Given the description of an element on the screen output the (x, y) to click on. 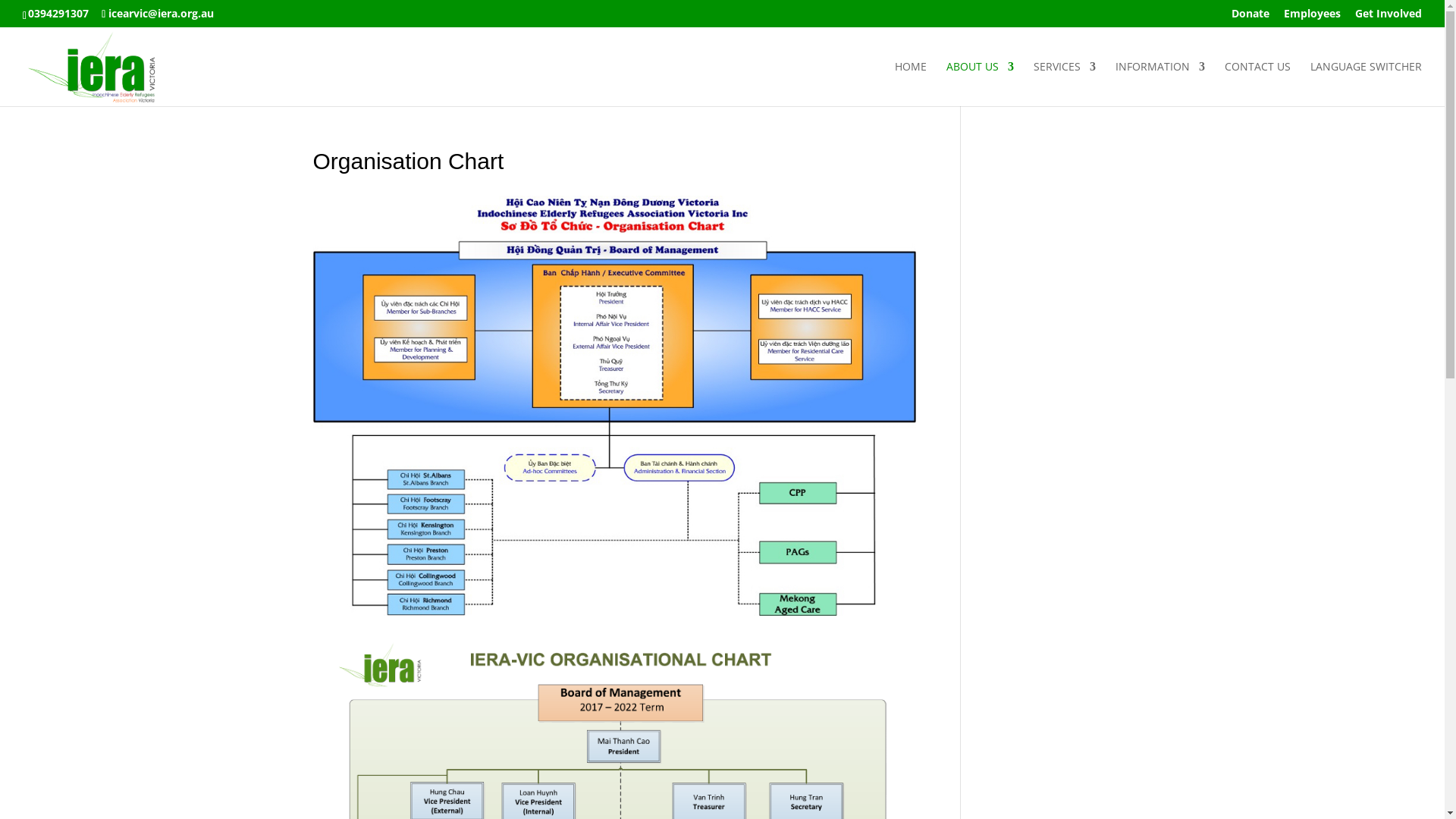
Donate Element type: text (1250, 16)
0394291307 Element type: text (58, 13)
ABOUT US Element type: text (979, 83)
CONTACT US Element type: text (1257, 83)
INFORMATION Element type: text (1159, 83)
HOME Element type: text (910, 83)
Employees Element type: text (1311, 16)
SERVICES Element type: text (1064, 83)
LANGUAGE SWITCHER Element type: text (1365, 83)
icearvic@iera.org.au Element type: text (157, 13)
Get Involved Element type: text (1388, 16)
